Given the description of an element on the screen output the (x, y) to click on. 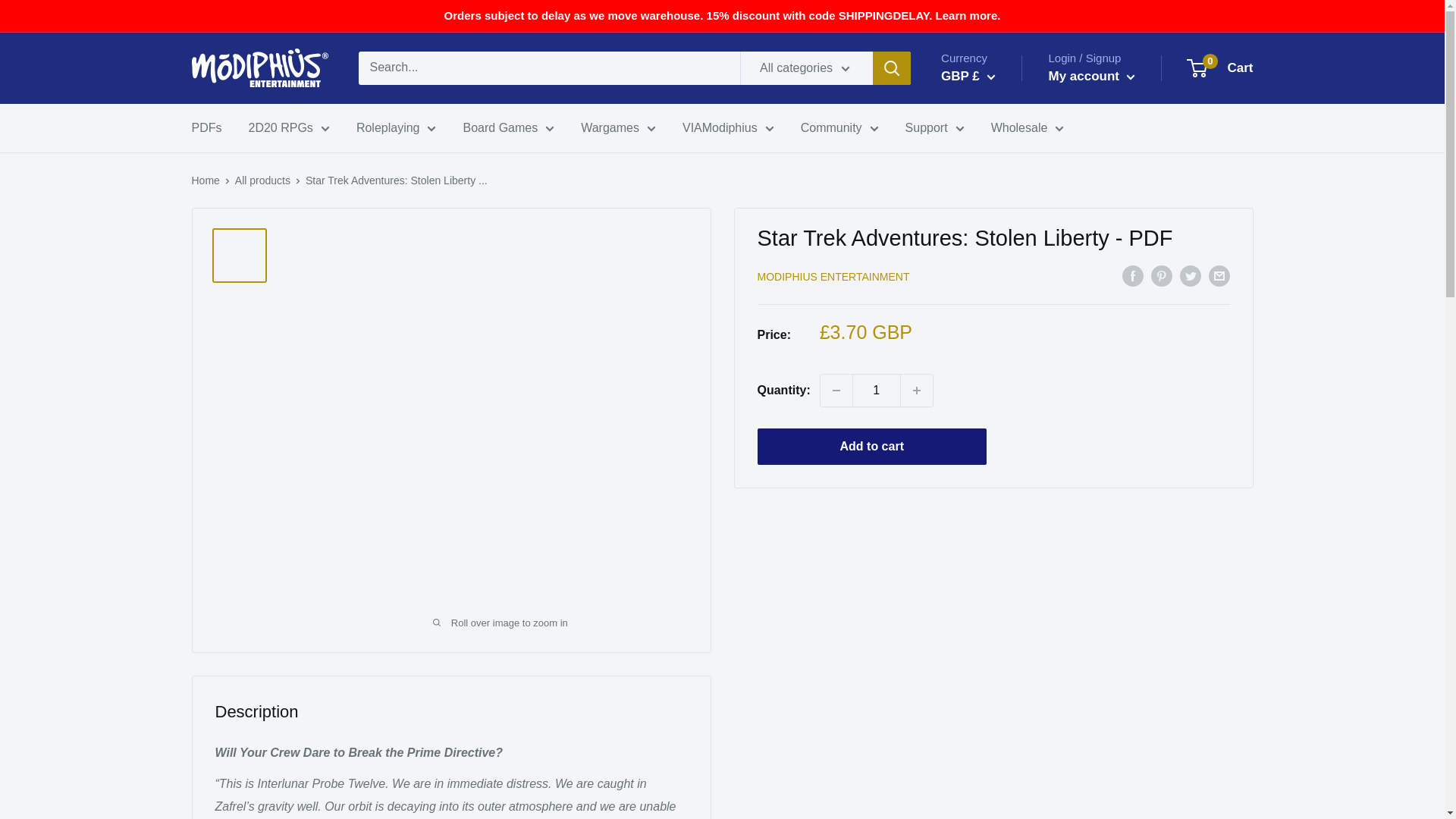
1 (876, 390)
Increase quantity by 1 (917, 390)
Decrease quantity by 1 (836, 390)
